Given the description of an element on the screen output the (x, y) to click on. 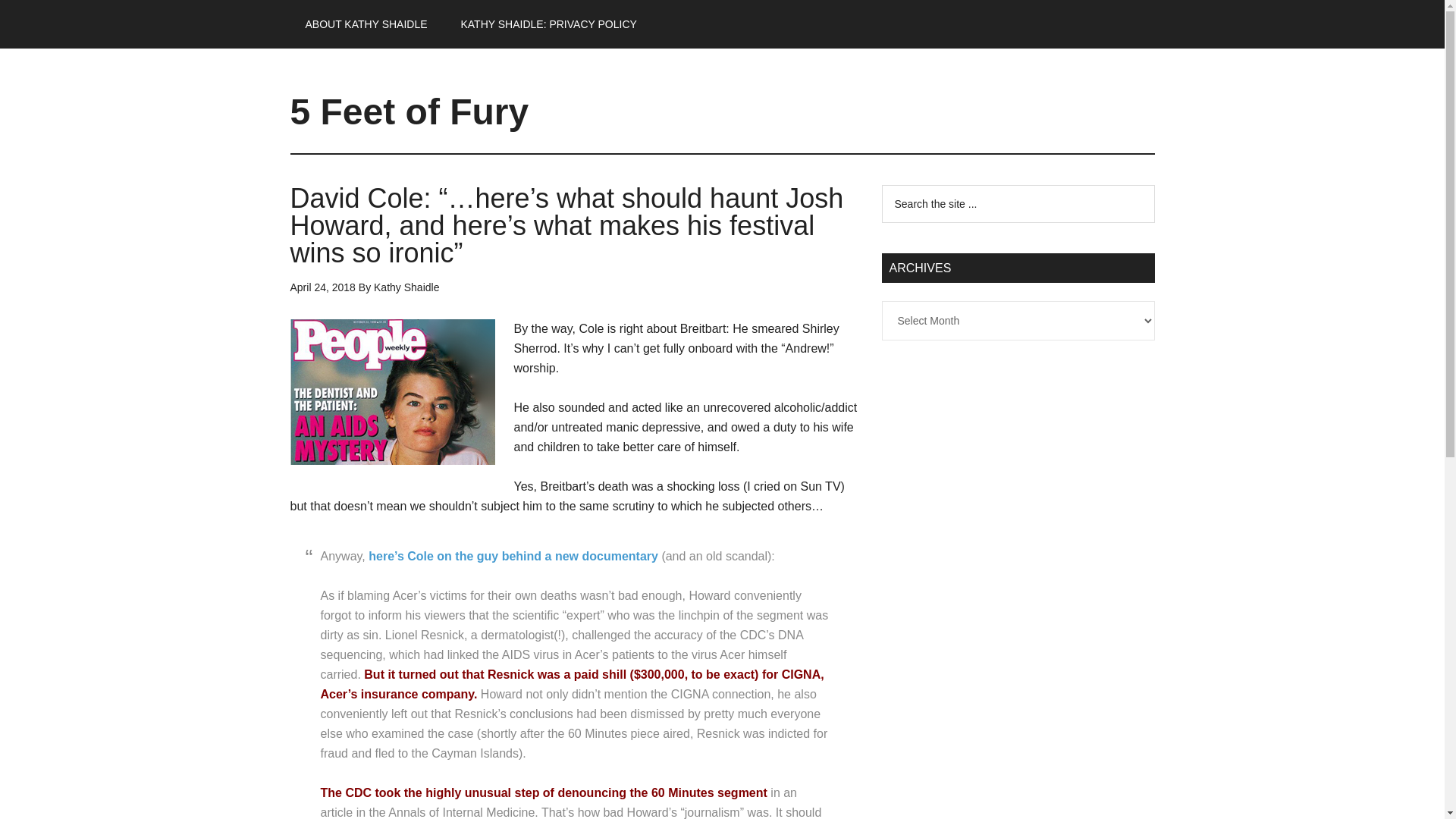
ABOUT KATHY SHAIDLE (365, 24)
KATHY SHAIDLE: PRIVACY POLICY (547, 24)
5 Feet of Fury (408, 111)
Kathy Shaidle (406, 287)
